Given the description of an element on the screen output the (x, y) to click on. 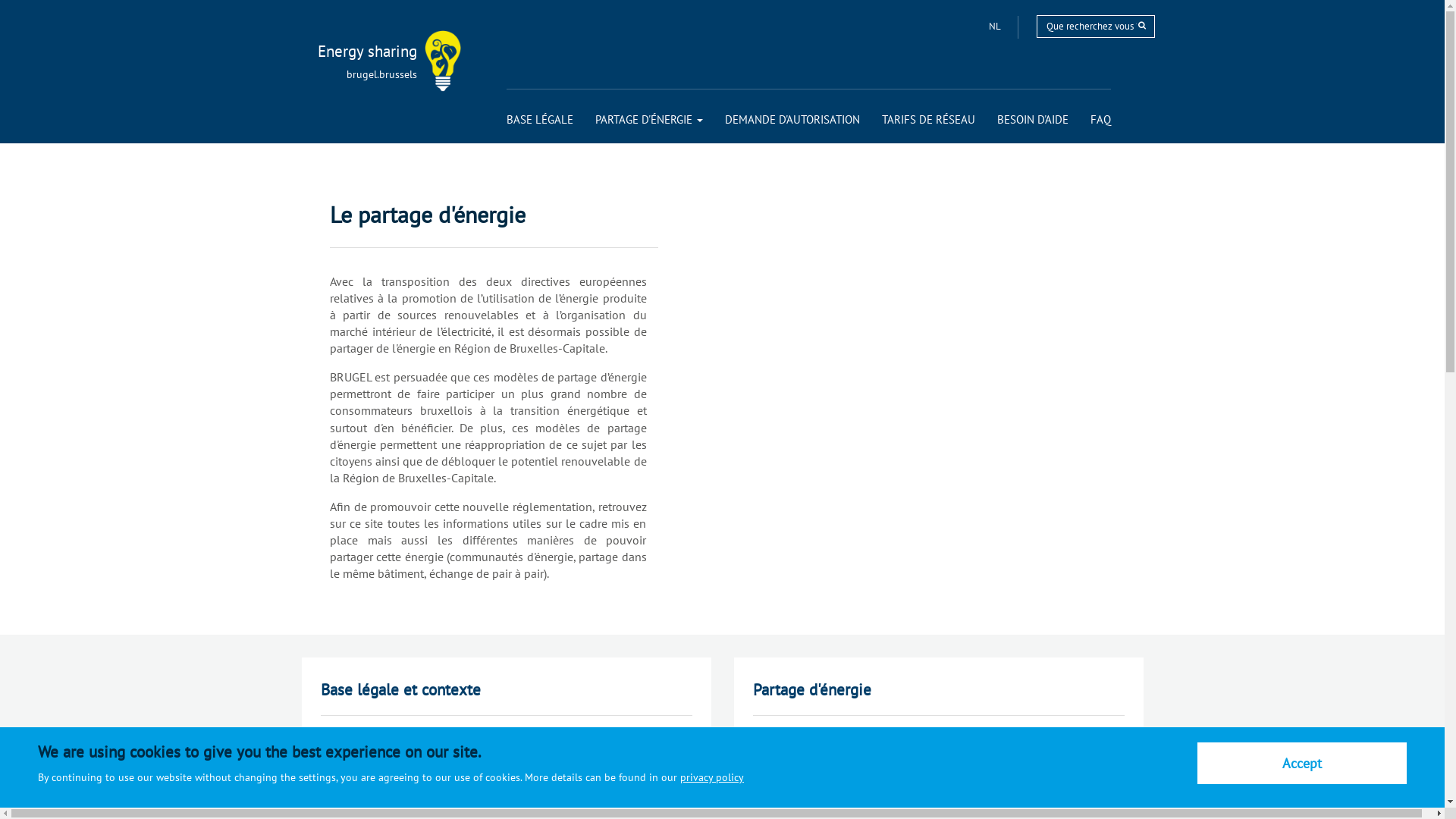
BESOIN D'AIDE Element type: text (1031, 119)
Energy sharing
brugel.brussels Element type: text (348, 51)
privacy policy Element type: text (711, 777)
NL Element type: text (995, 25)
Accept Element type: text (1301, 763)
DEMANDE D'AUTORISATION Element type: text (791, 119)
FAQ Element type: text (1100, 119)
